Given the description of an element on the screen output the (x, y) to click on. 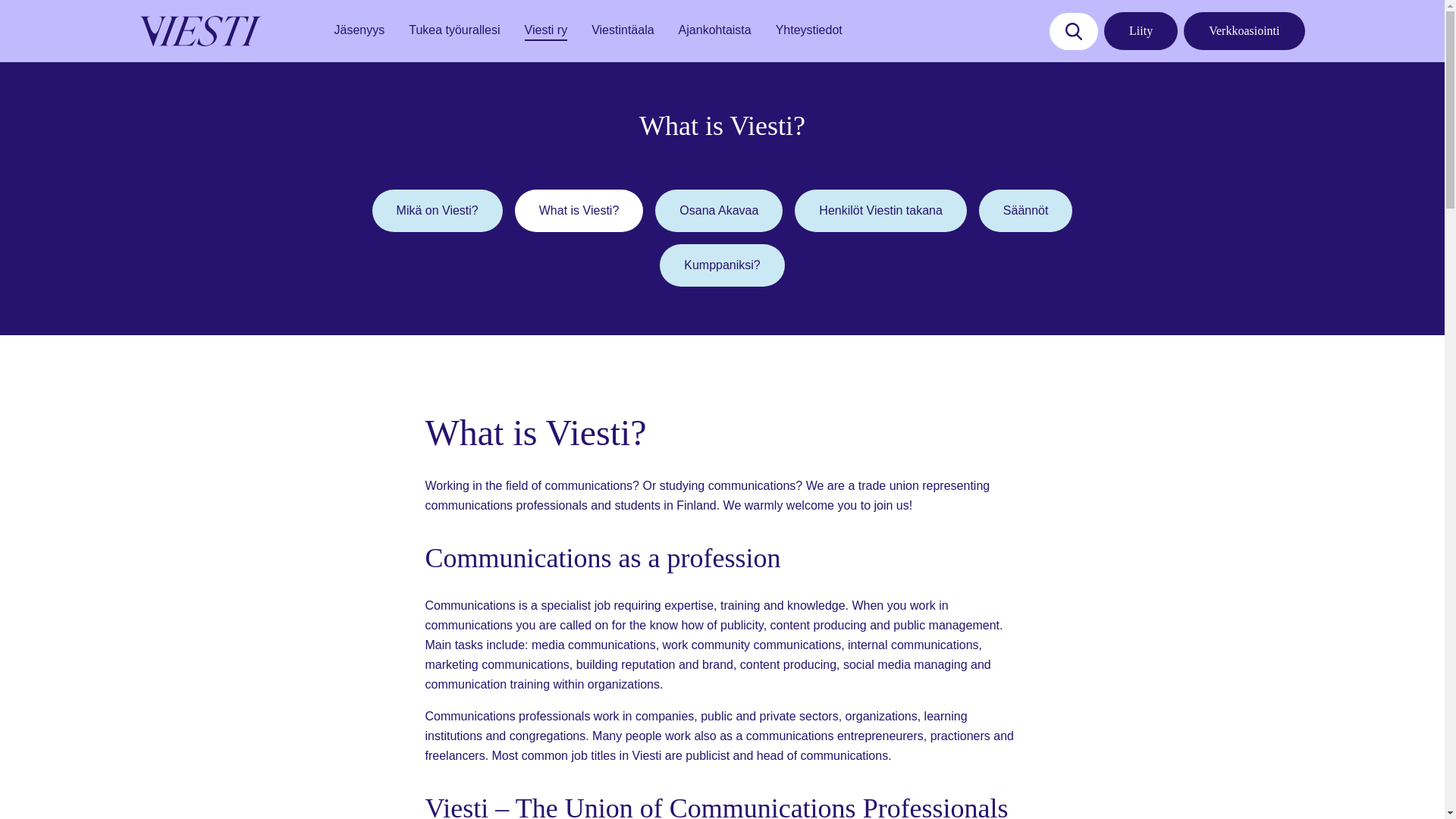
Osana Akavaa (719, 210)
Viesti ry (545, 29)
Verkkoasiointi (1243, 30)
Ajankohtaista (714, 29)
Kumppaniksi? (721, 265)
Liity (1140, 30)
What is Viesti? (579, 210)
Yhteystiedot (809, 29)
